Given the description of an element on the screen output the (x, y) to click on. 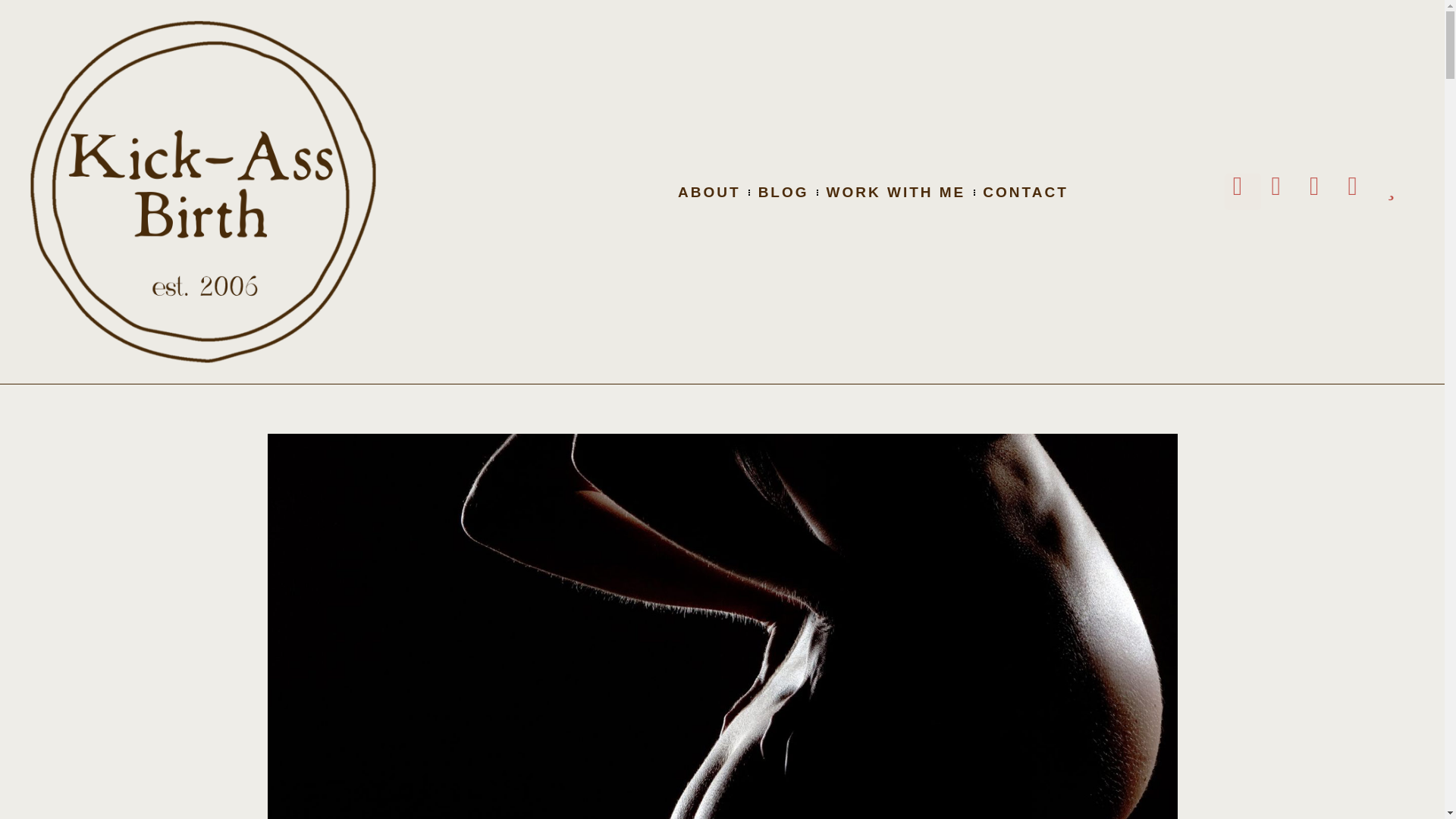
CONTACT (1024, 192)
ABOUT (709, 192)
WORK WITH ME (896, 192)
BLOG (783, 192)
